Given the description of an element on the screen output the (x, y) to click on. 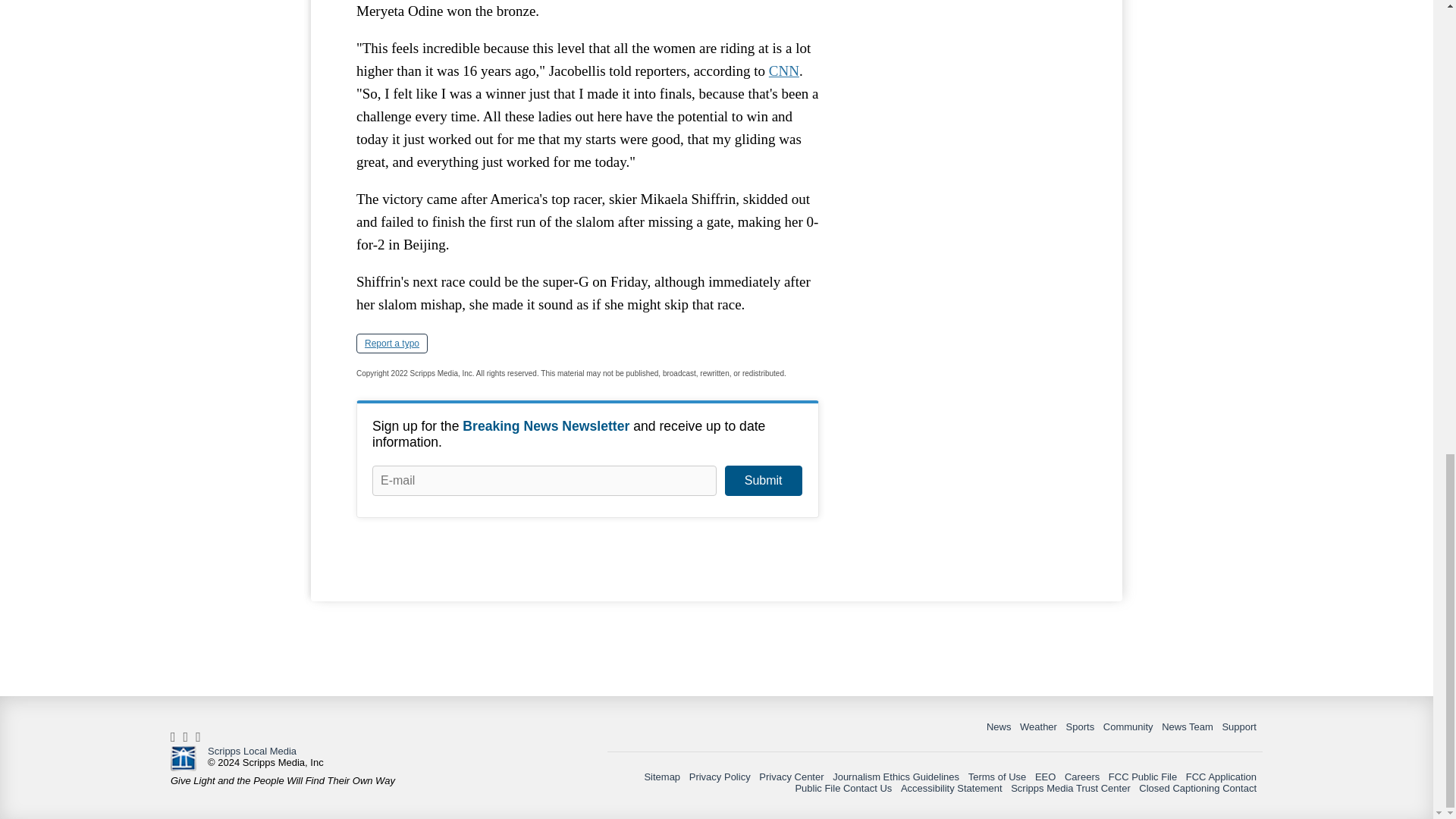
Submit (763, 481)
